Given the description of an element on the screen output the (x, y) to click on. 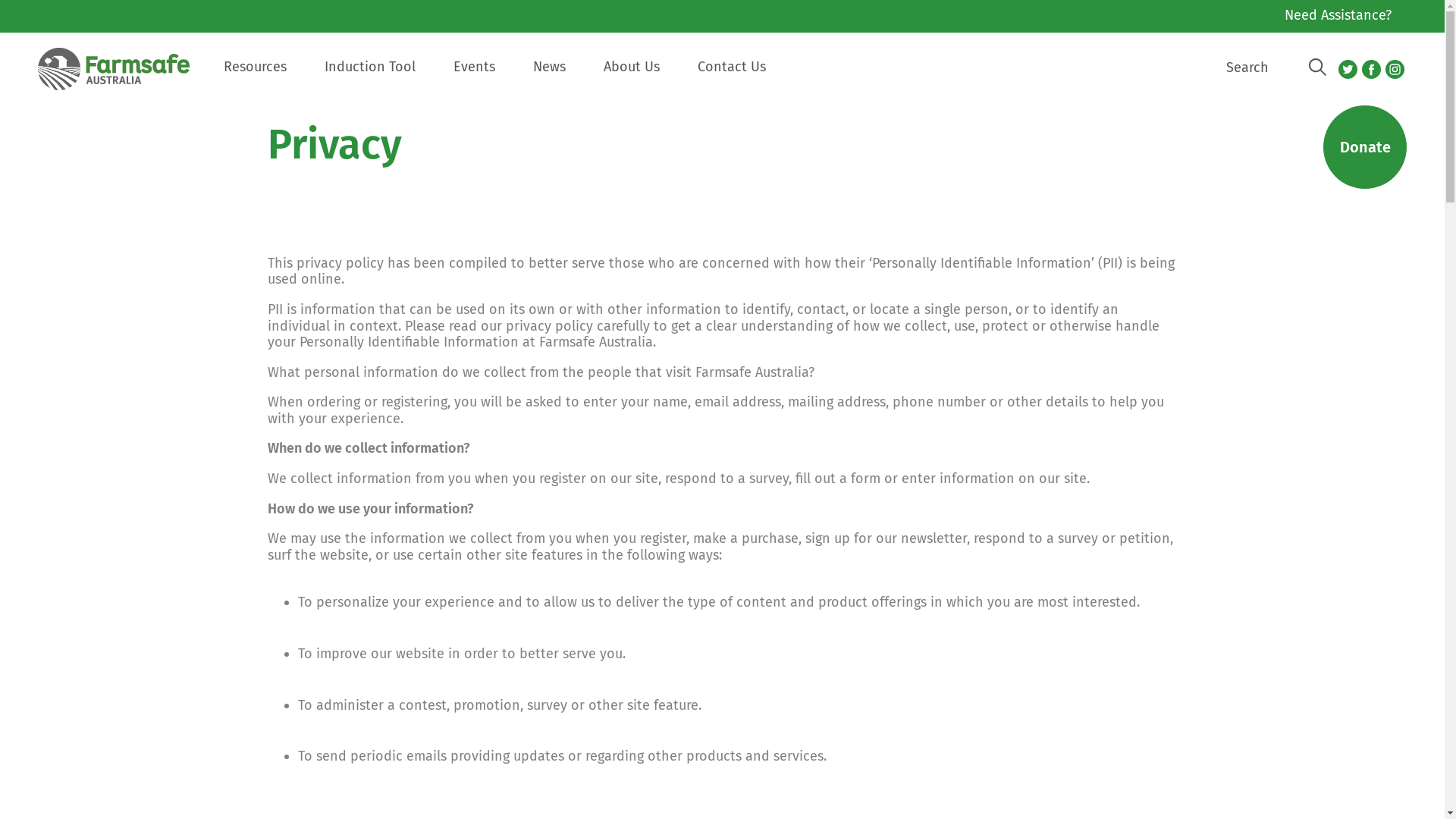
Need Assistance? Element type: text (1337, 15)
Resources Element type: text (254, 78)
Induction Tool Element type: text (369, 78)
Contact Us Element type: text (731, 78)
News Element type: text (548, 78)
Home Element type: hover (120, 76)
Donate Element type: text (1364, 146)
Find us on Facebook Element type: hover (1370, 68)
See us on Instagram Element type: hover (1394, 69)
Events Element type: text (474, 78)
Follow us on Twitter Element type: hover (1347, 68)
About Us Element type: text (631, 78)
